Given the description of an element on the screen output the (x, y) to click on. 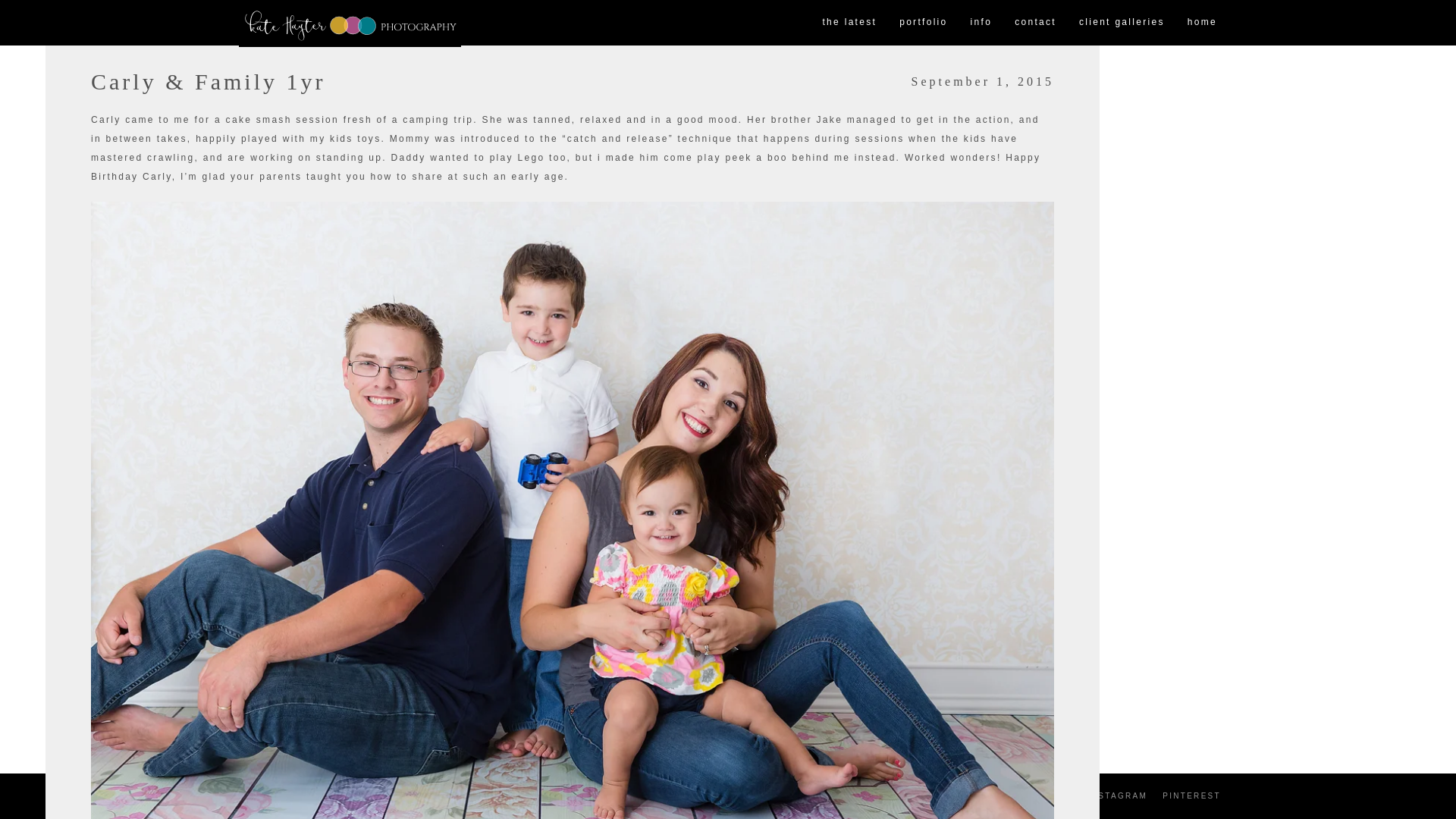
client galleries (1121, 22)
PINTEREST (1191, 796)
contact (1035, 22)
INSTAGRAM (1117, 796)
home (1202, 22)
info (981, 22)
FACEBOOK (1043, 796)
the latest (849, 22)
portfolio (923, 22)
